Given the description of an element on the screen output the (x, y) to click on. 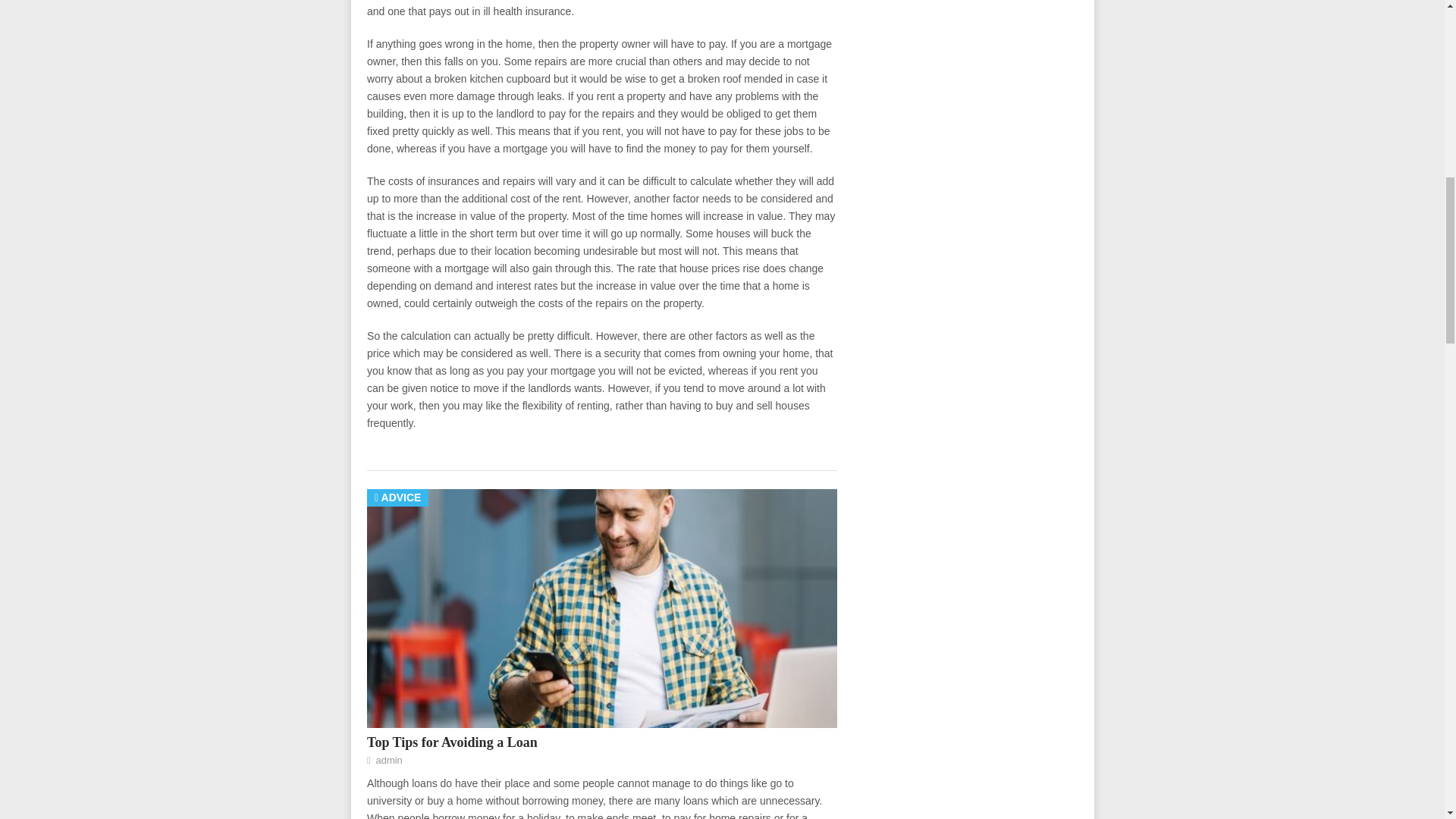
Posts by admin (388, 759)
Top Tips for Avoiding a Loan (451, 742)
admin (388, 759)
Top Tips for Avoiding a Loan (451, 742)
